Given the description of an element on the screen output the (x, y) to click on. 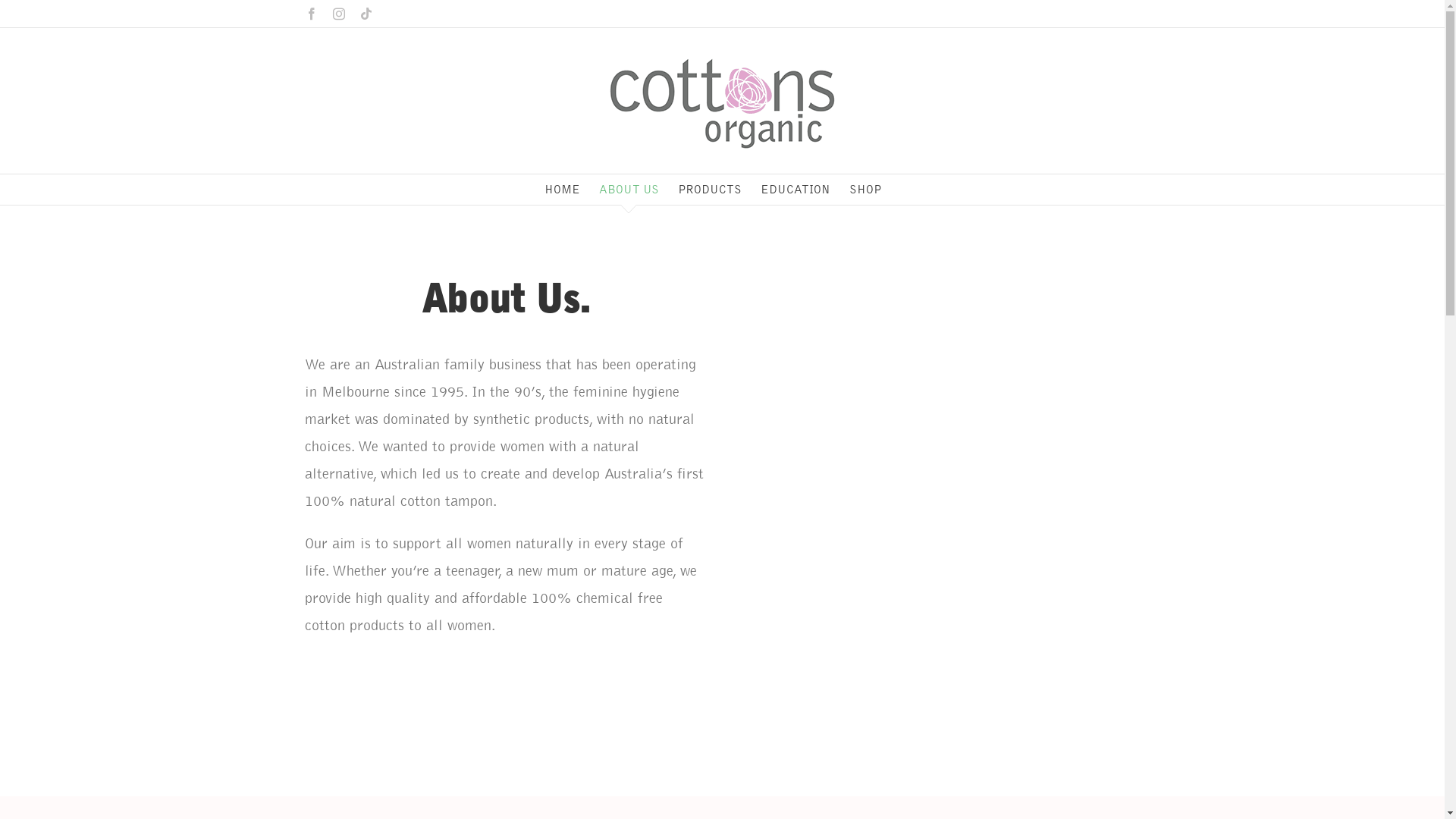
09Sep_CTN_Website-OurStory-CottonCares-605x589_V2 Element type: hover (938, 498)
SHOP Element type: text (865, 189)
EDUCATION Element type: text (794, 189)
HOME Element type: text (562, 189)
Tiktok Element type: text (365, 13)
ABOUT US Element type: text (628, 189)
Instagram Element type: text (338, 13)
PRODUCTS Element type: text (709, 189)
Facebook Element type: text (310, 13)
